Given the description of an element on the screen output the (x, y) to click on. 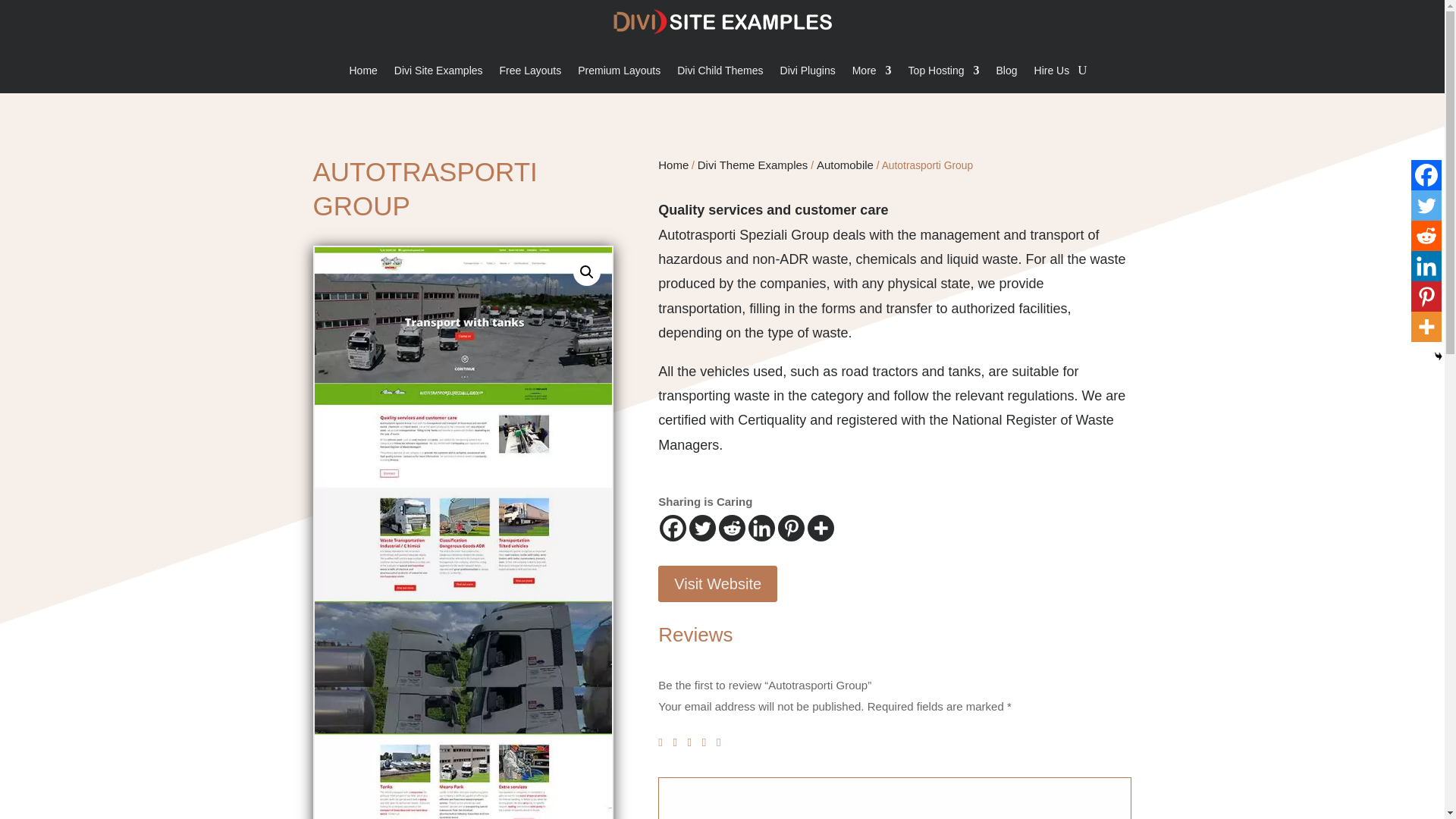
Free Layouts (530, 73)
Reddit (732, 528)
Divi Plugins (807, 73)
Top Hosting (943, 73)
More (871, 73)
Blog (1006, 73)
Pinterest (1425, 296)
Facebook (1425, 174)
Twitter (702, 528)
Linkedin (761, 528)
